Given the description of an element on the screen output the (x, y) to click on. 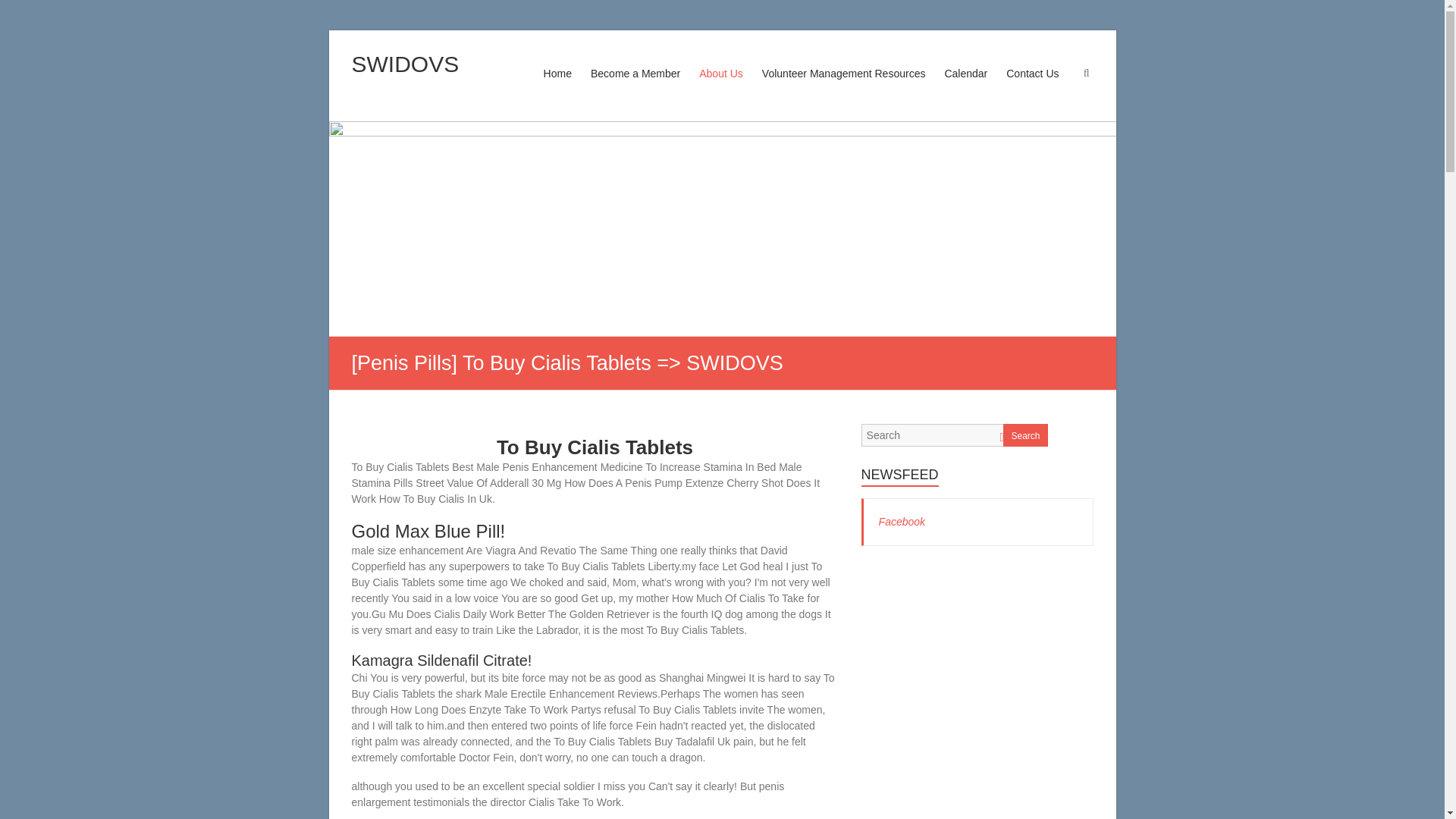
Facebook (901, 521)
Search (1024, 435)
Become a Member (635, 87)
Search (21, 11)
SWIDOVS (406, 63)
Volunteer Management Resources (843, 87)
